Given the description of an element on the screen output the (x, y) to click on. 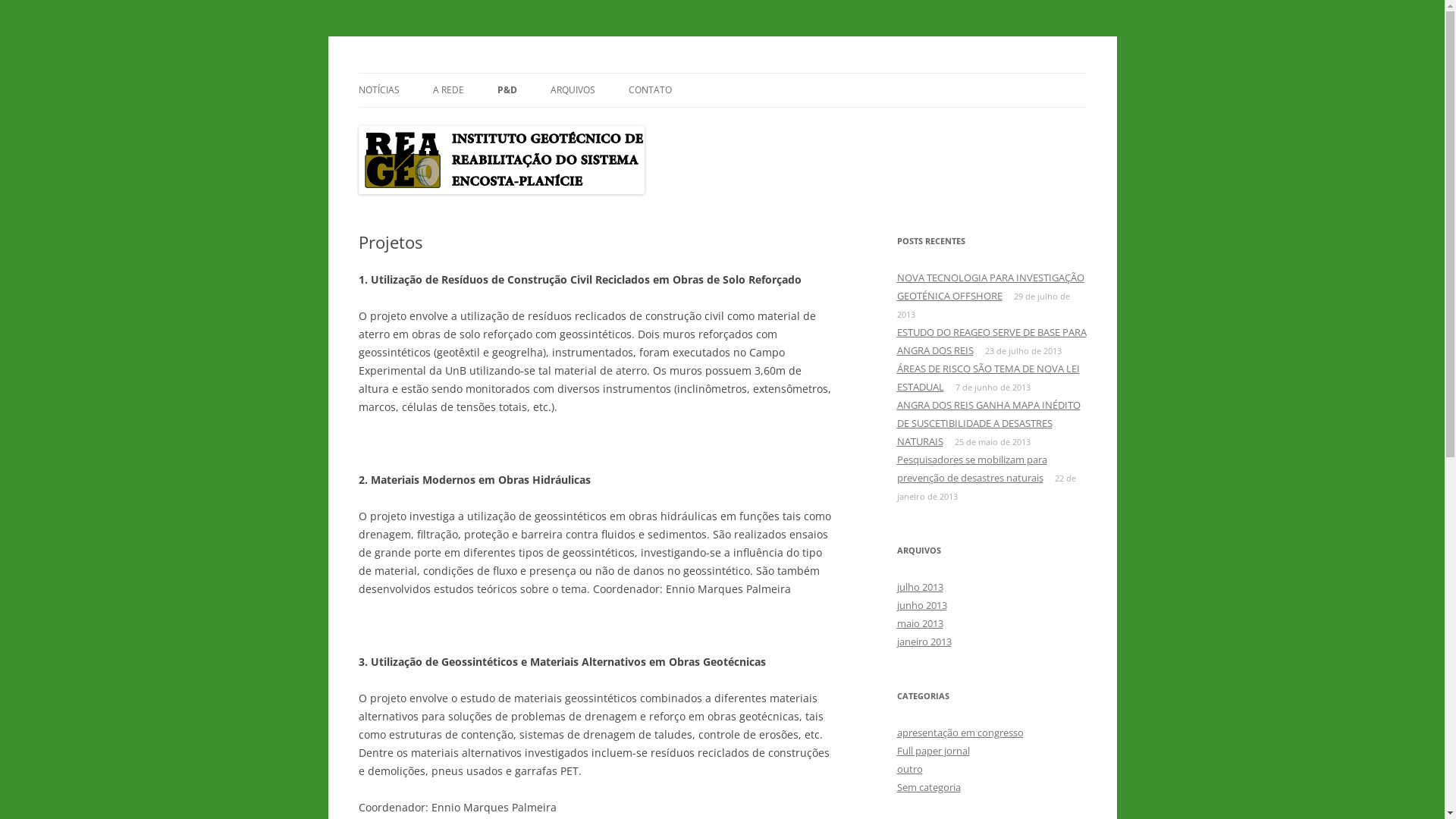
Full paper jornal Element type: text (932, 750)
janeiro 2013 Element type: text (923, 641)
junho 2013 Element type: text (921, 604)
ESTUDO DO REAGEO SERVE DE BASE PARA ANGRA DOS REIS Element type: text (990, 341)
Sem categoria Element type: text (928, 786)
ARQUIVOS Element type: text (626, 122)
CONTATO Element type: text (649, 89)
P&D Element type: text (507, 89)
ARTIGOS Element type: text (573, 122)
maio 2013 Element type: text (919, 623)
outro Element type: text (909, 768)
ARQUIVOS Element type: text (572, 89)
julho 2013 Element type: text (919, 586)
A REDE Element type: text (447, 89)
